Given the description of an element on the screen output the (x, y) to click on. 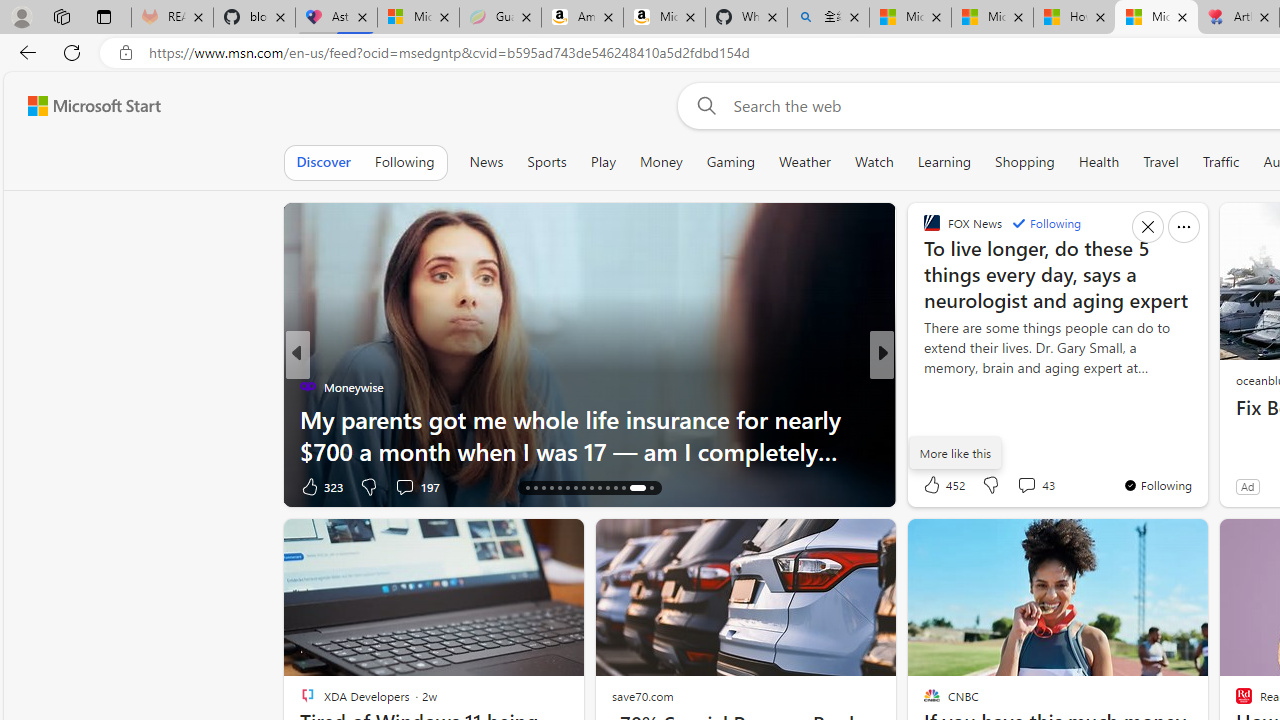
AutomationID: tab-24 (591, 487)
AutomationID: tab-28 (623, 487)
View comments 197 Comment (404, 485)
How I Got Rid of Microsoft Edge's Unnecessary Features (1074, 17)
Sports (546, 161)
Play (603, 162)
Gaming (730, 162)
